Given the description of an element on the screen output the (x, y) to click on. 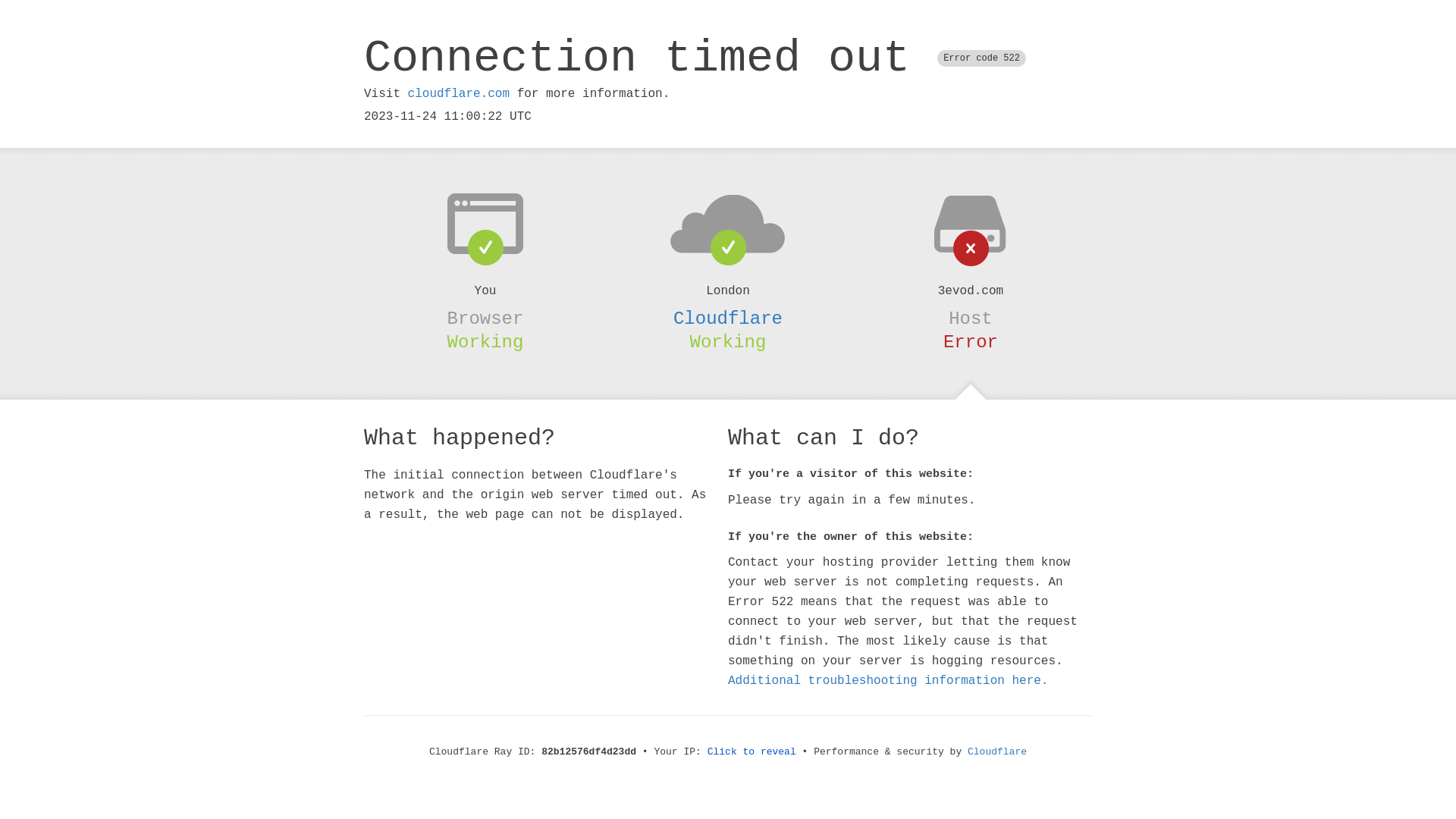
Cloudflare Element type: text (996, 751)
cloudflare.com Element type: text (458, 93)
Cloudflare Element type: text (727, 318)
Additional troubleshooting information here. Element type: text (888, 680)
Click to reveal Element type: text (751, 751)
